Given the description of an element on the screen output the (x, y) to click on. 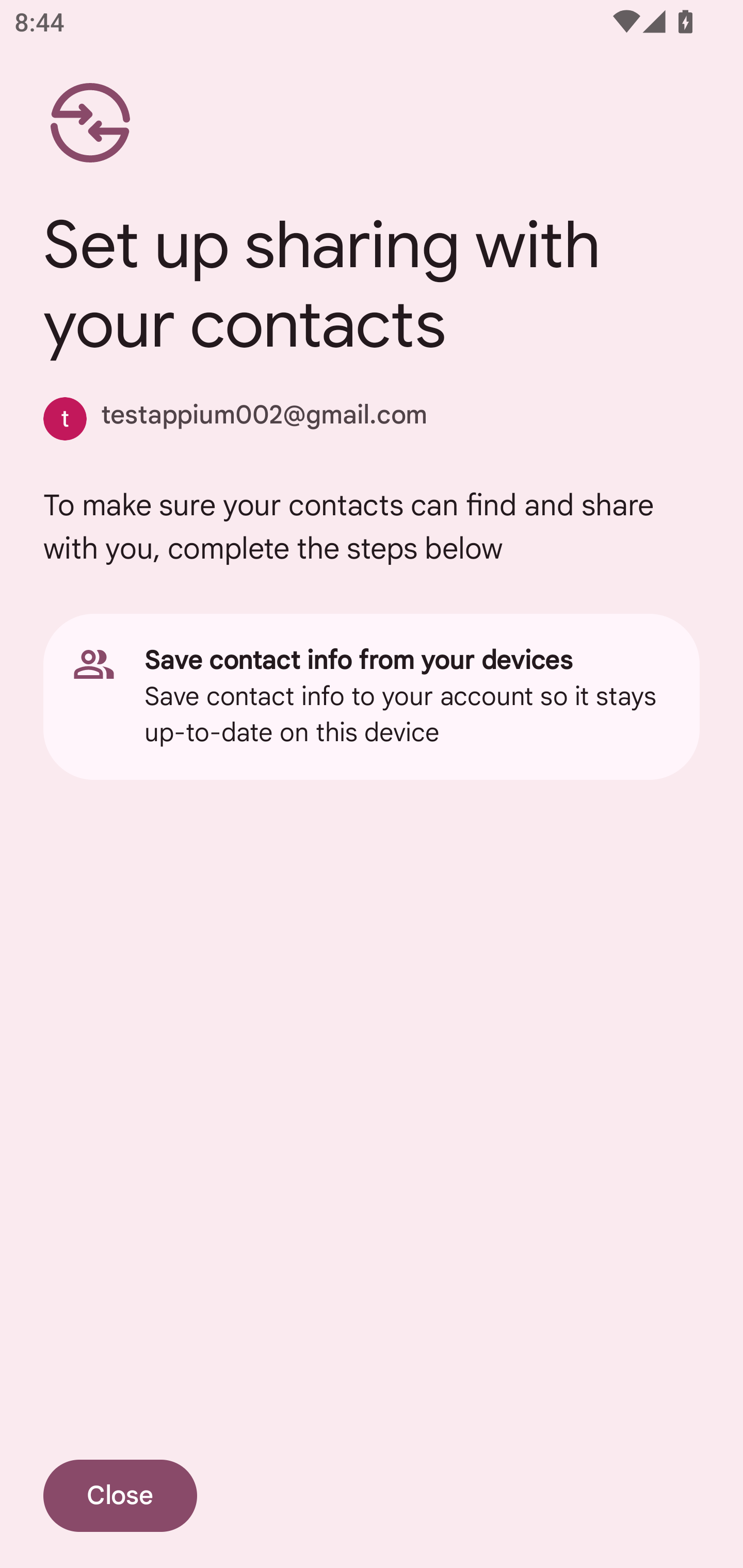
Close (119, 1495)
